Given the description of an element on the screen output the (x, y) to click on. 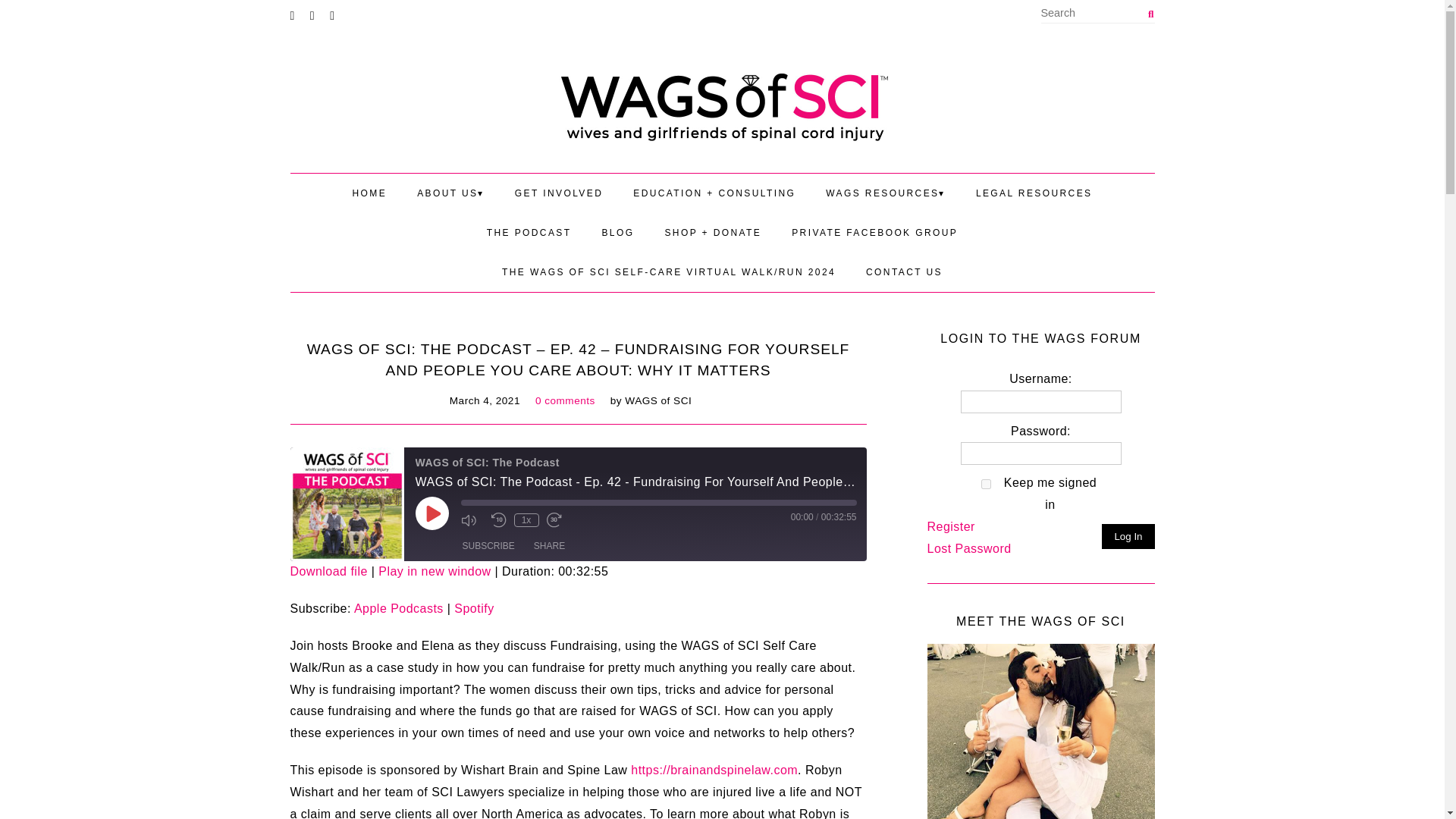
0 comments (565, 400)
WAGS of SCI (722, 105)
GET INVOLVED (558, 192)
Play (431, 512)
HOME (370, 192)
BLOG (617, 232)
Fast Forward 30 seconds (557, 519)
SUBSCRIBE (488, 545)
Subscribe (488, 545)
SHARE (548, 545)
ABOUT US (450, 192)
WAGS of SCI: The Podcast (346, 504)
Seek (659, 502)
Share (548, 545)
CONTACT US (904, 271)
